Given the description of an element on the screen output the (x, y) to click on. 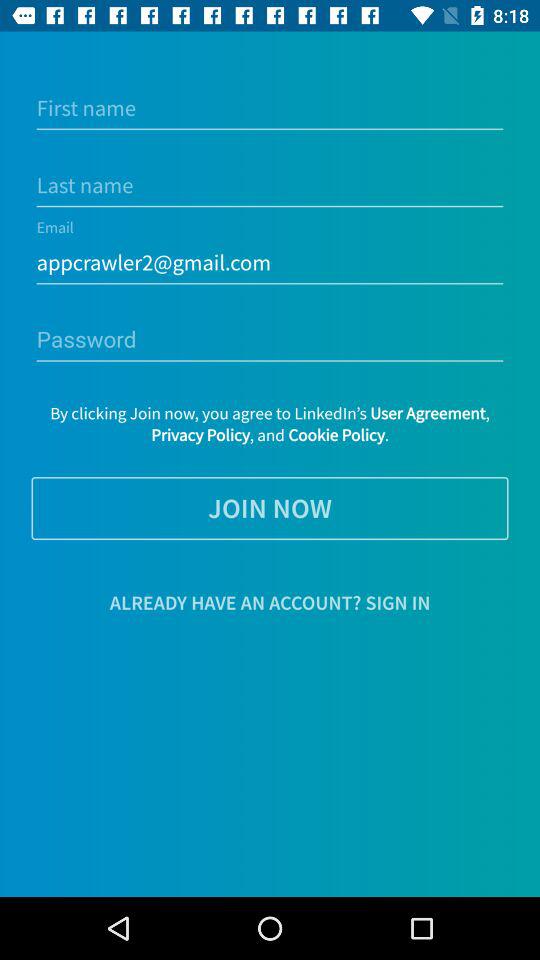
press the already have an icon (269, 602)
